Given the description of an element on the screen output the (x, y) to click on. 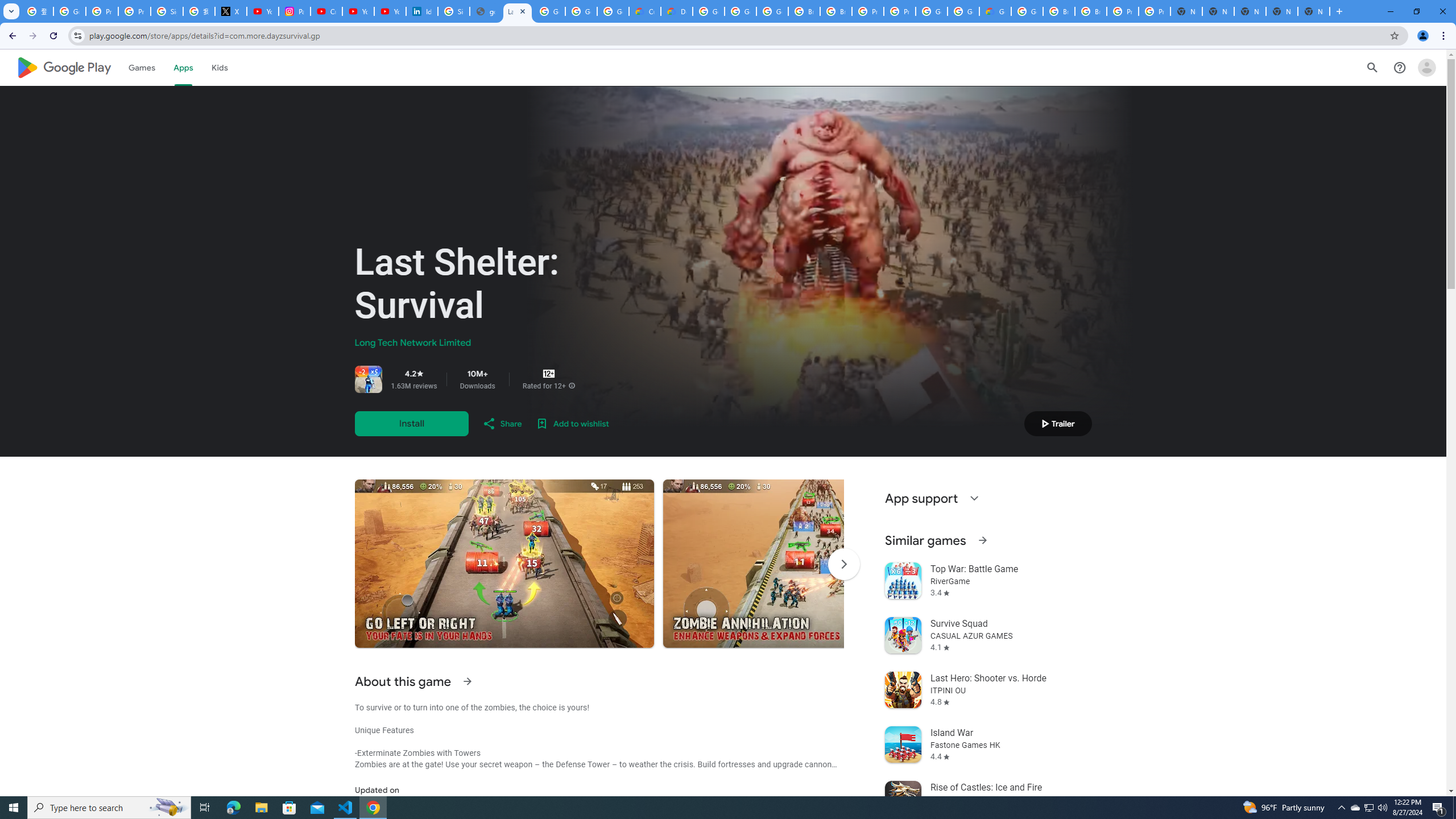
Play trailer (1058, 423)
Search (1372, 67)
Scroll Next (843, 563)
Identity verification via Persona | LinkedIn Help (421, 11)
google_privacy_policy_en.pdf (485, 11)
Sign in - Google Accounts (166, 11)
Help Center (1399, 67)
